Given the description of an element on the screen output the (x, y) to click on. 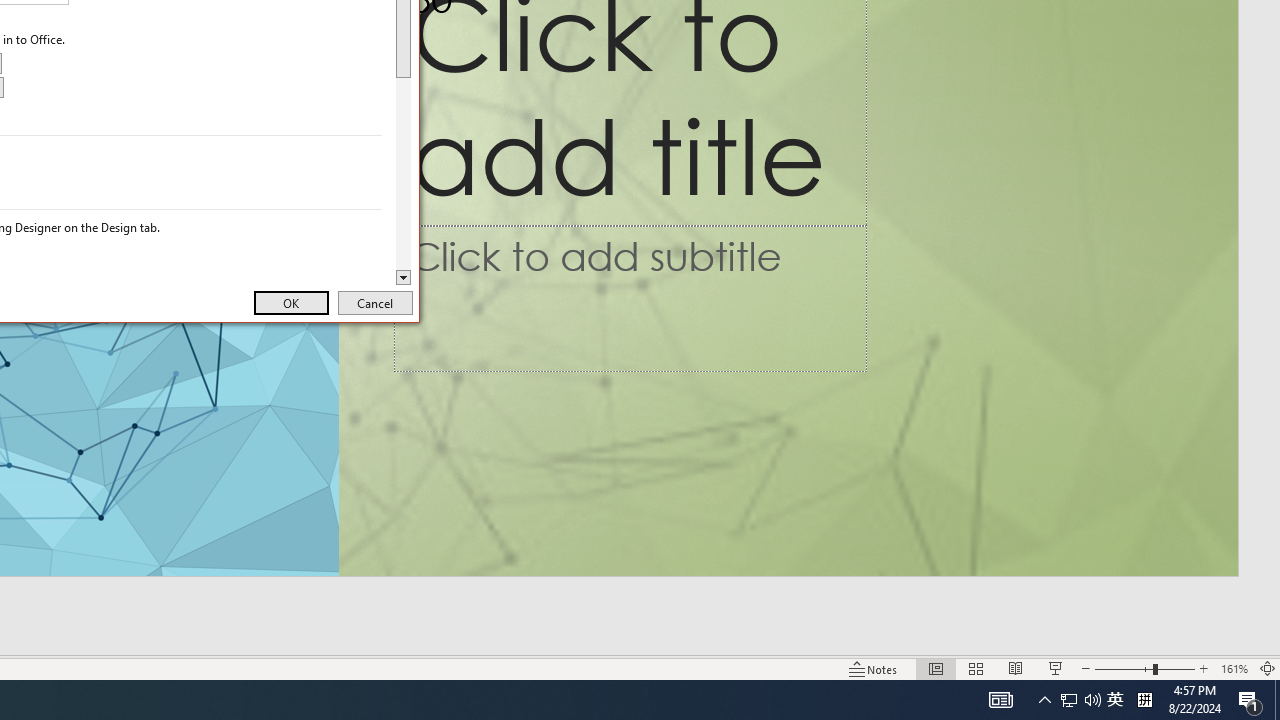
Notes  (874, 668)
Cancel (375, 302)
Line down (403, 278)
Notification Chevron (1044, 699)
Zoom 161% (1234, 668)
AutomationID: 4105 (1000, 699)
Page down (1069, 699)
Action Center, 1 new notification (403, 173)
